Given the description of an element on the screen output the (x, y) to click on. 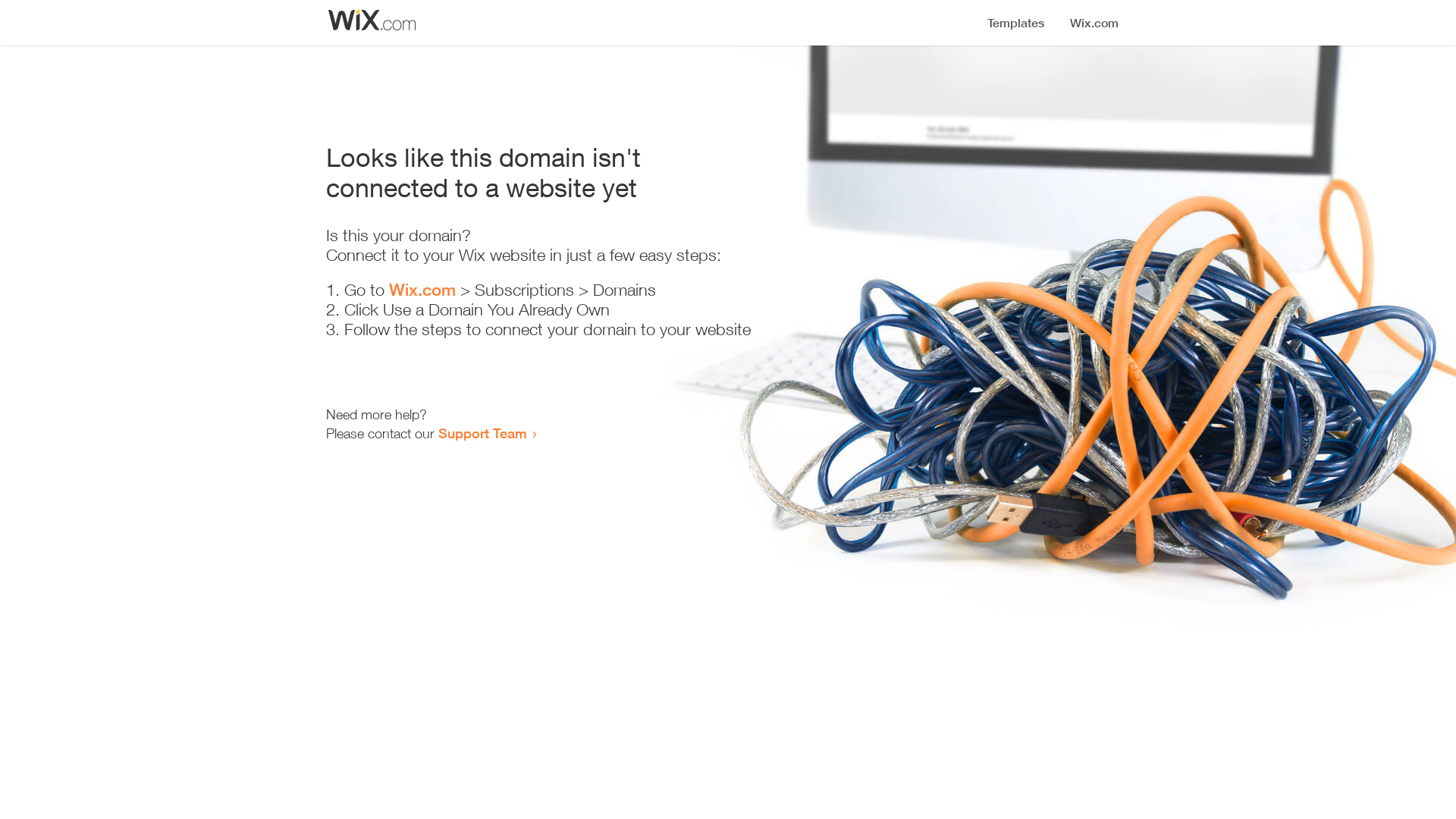
Wix.com Element type: text (422, 289)
Support Team Element type: text (482, 432)
